Given the description of an element on the screen output the (x, y) to click on. 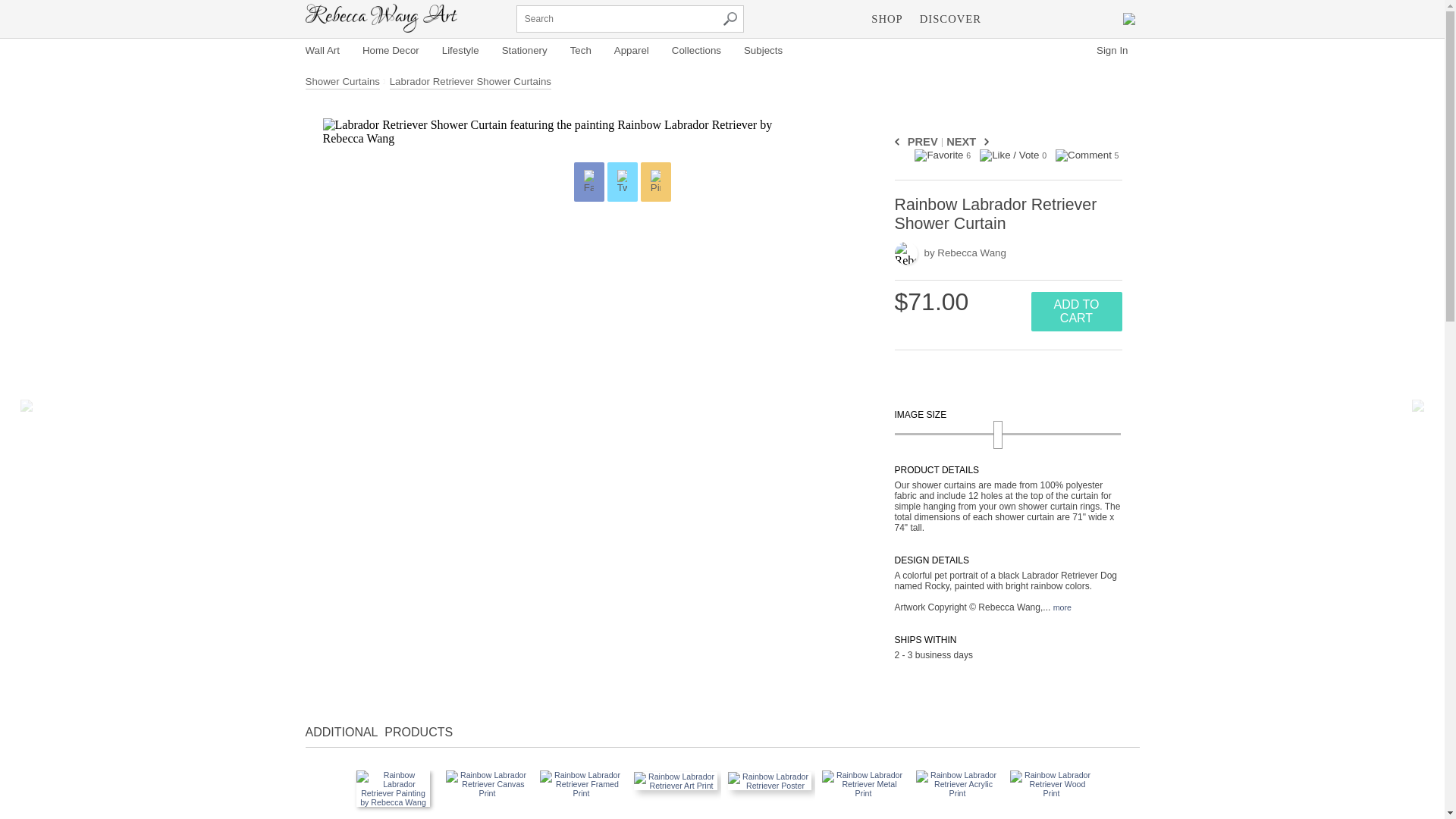
SHOP (886, 18)
Search (729, 18)
DISCOVER (950, 18)
Favorite (938, 155)
Comment (1083, 155)
Rebecca Wang - Artist Website (380, 18)
